Given the description of an element on the screen output the (x, y) to click on. 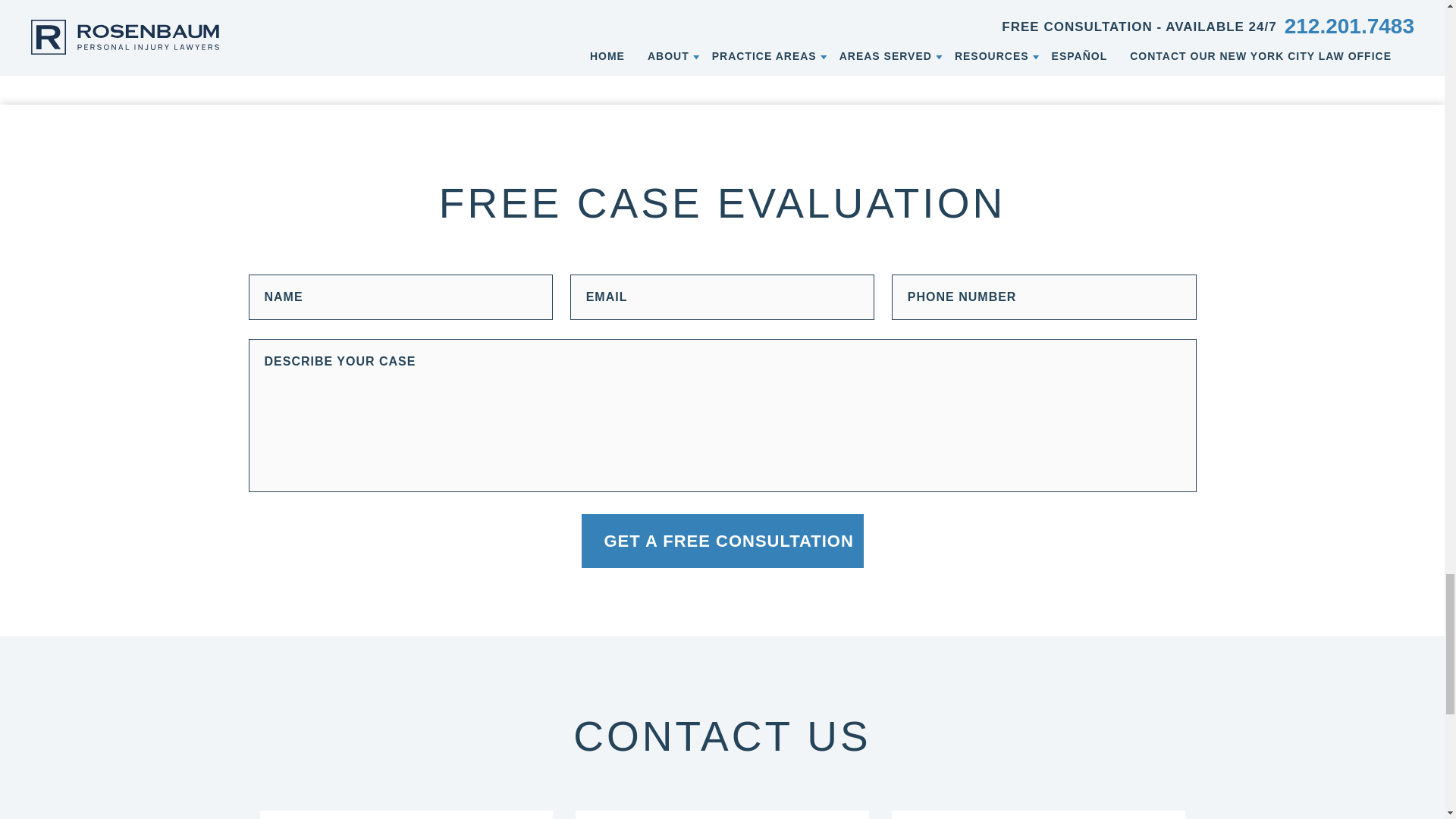
Get a Free Consultation (721, 541)
